Given the description of an element on the screen output the (x, y) to click on. 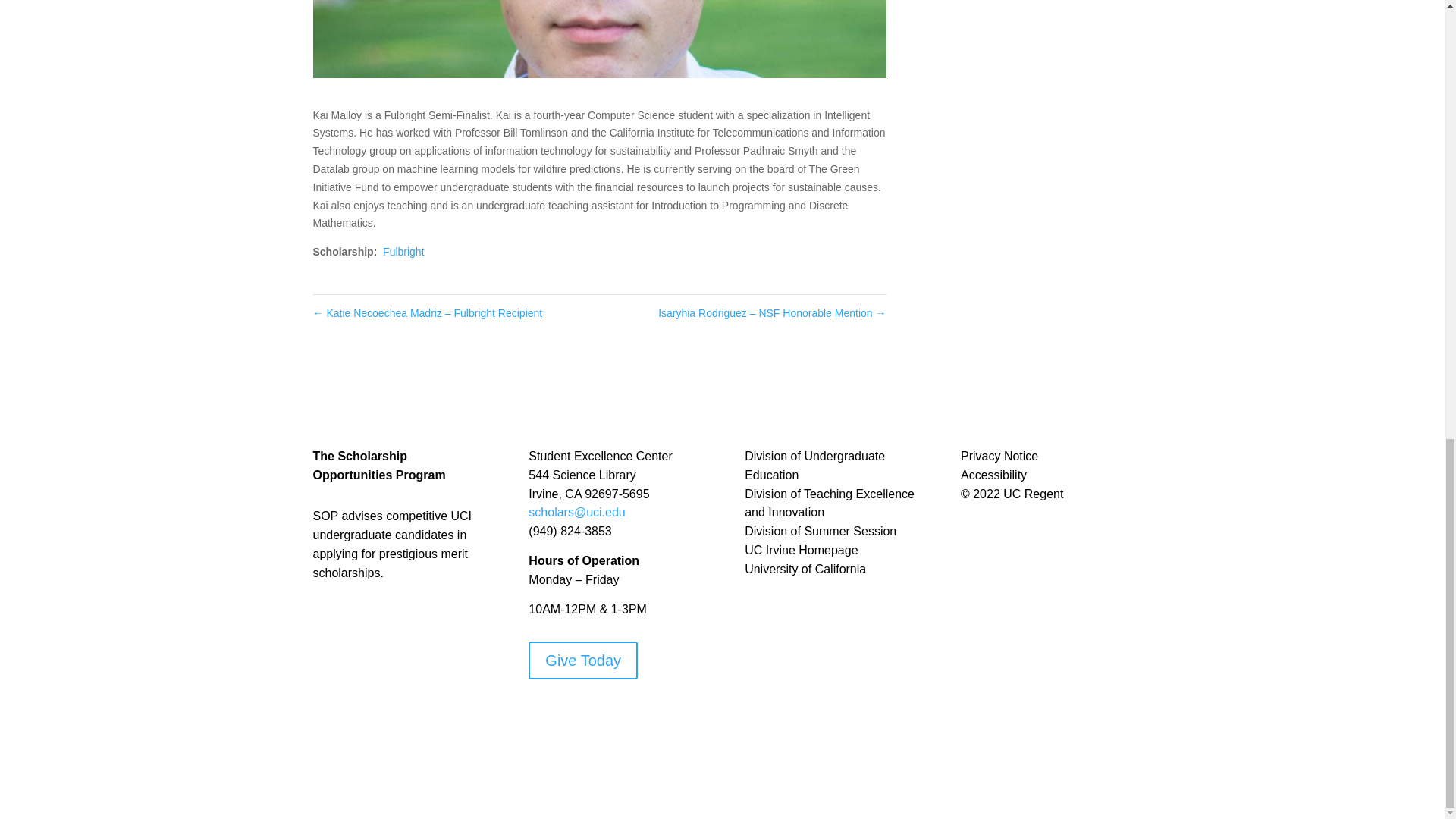
Follow on Facebook (540, 713)
Follow on Instagram (571, 713)
Follow on LinkedIn (631, 713)
Fulbright (402, 251)
Follow on X (600, 713)
